Given the description of an element on the screen output the (x, y) to click on. 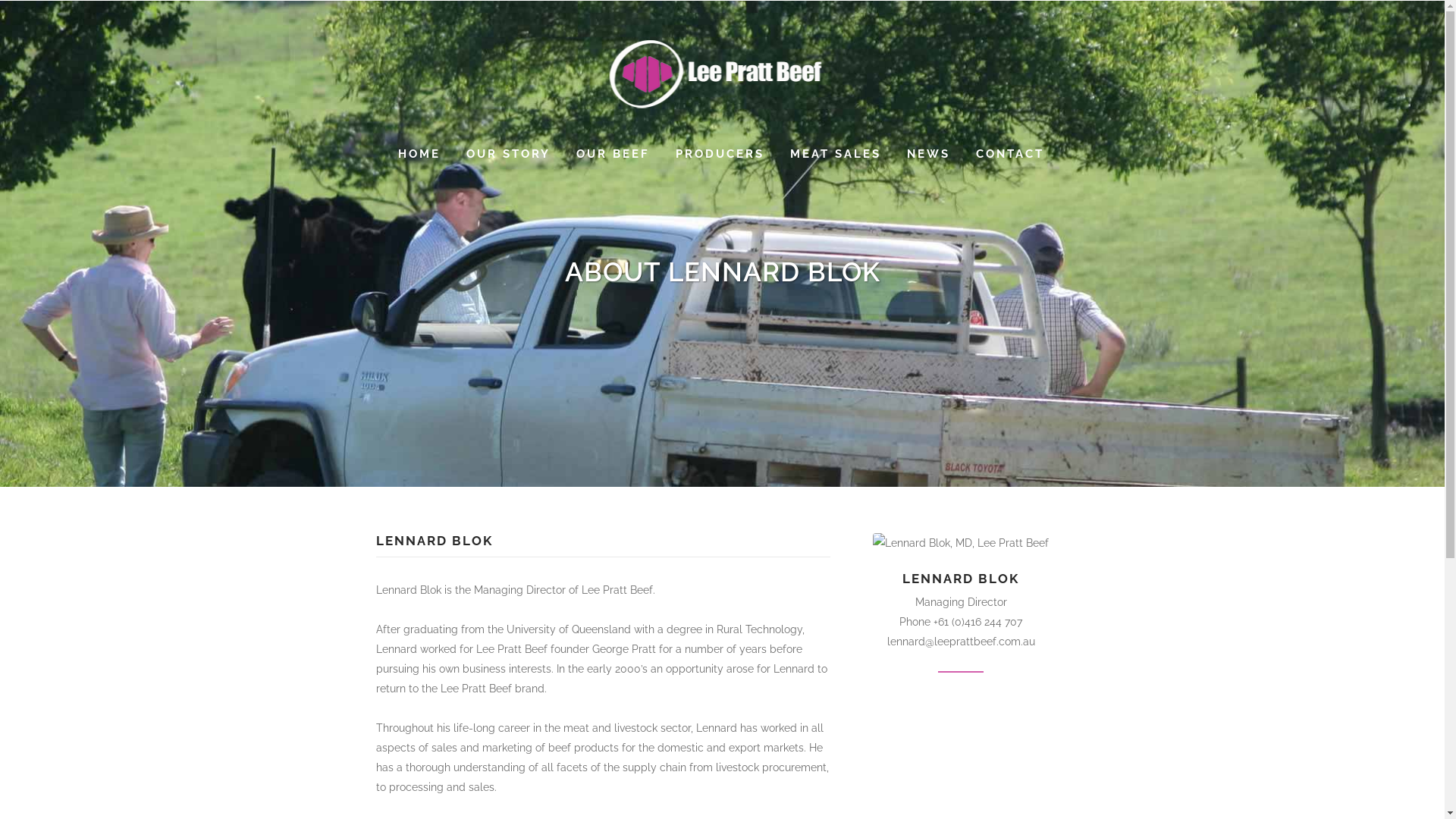
HOME Element type: text (419, 153)
PRODUCERS Element type: text (719, 153)
OUR STORY Element type: text (508, 153)
CONTACT Element type: text (1010, 153)
OUR BEEF Element type: text (612, 153)
MEAT SALES Element type: text (834, 153)
NEWS Element type: text (927, 153)
